Given the description of an element on the screen output the (x, y) to click on. 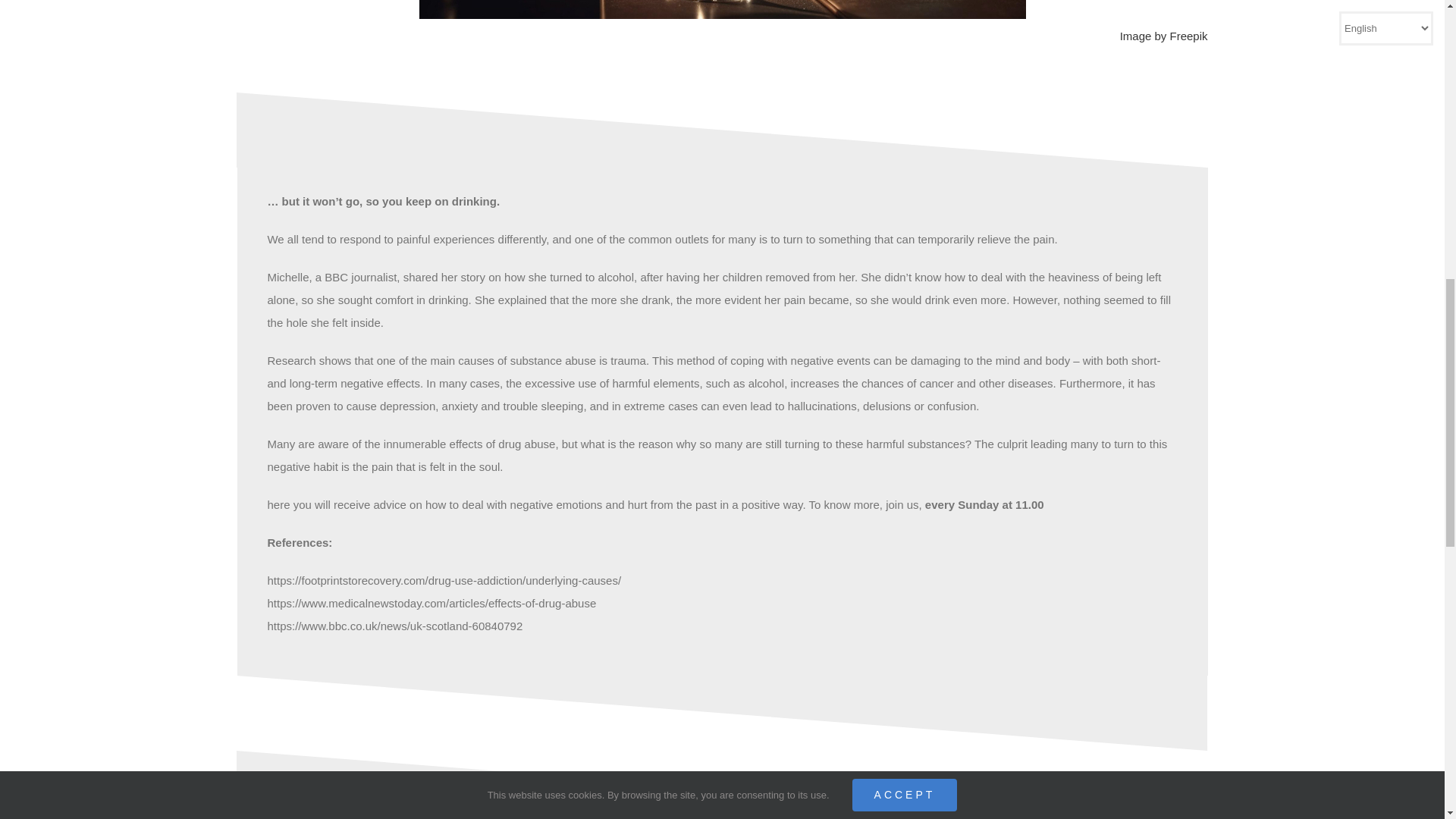
126.126 (722, 9)
Image by Freepik (721, 46)
